Given the description of an element on the screen output the (x, y) to click on. 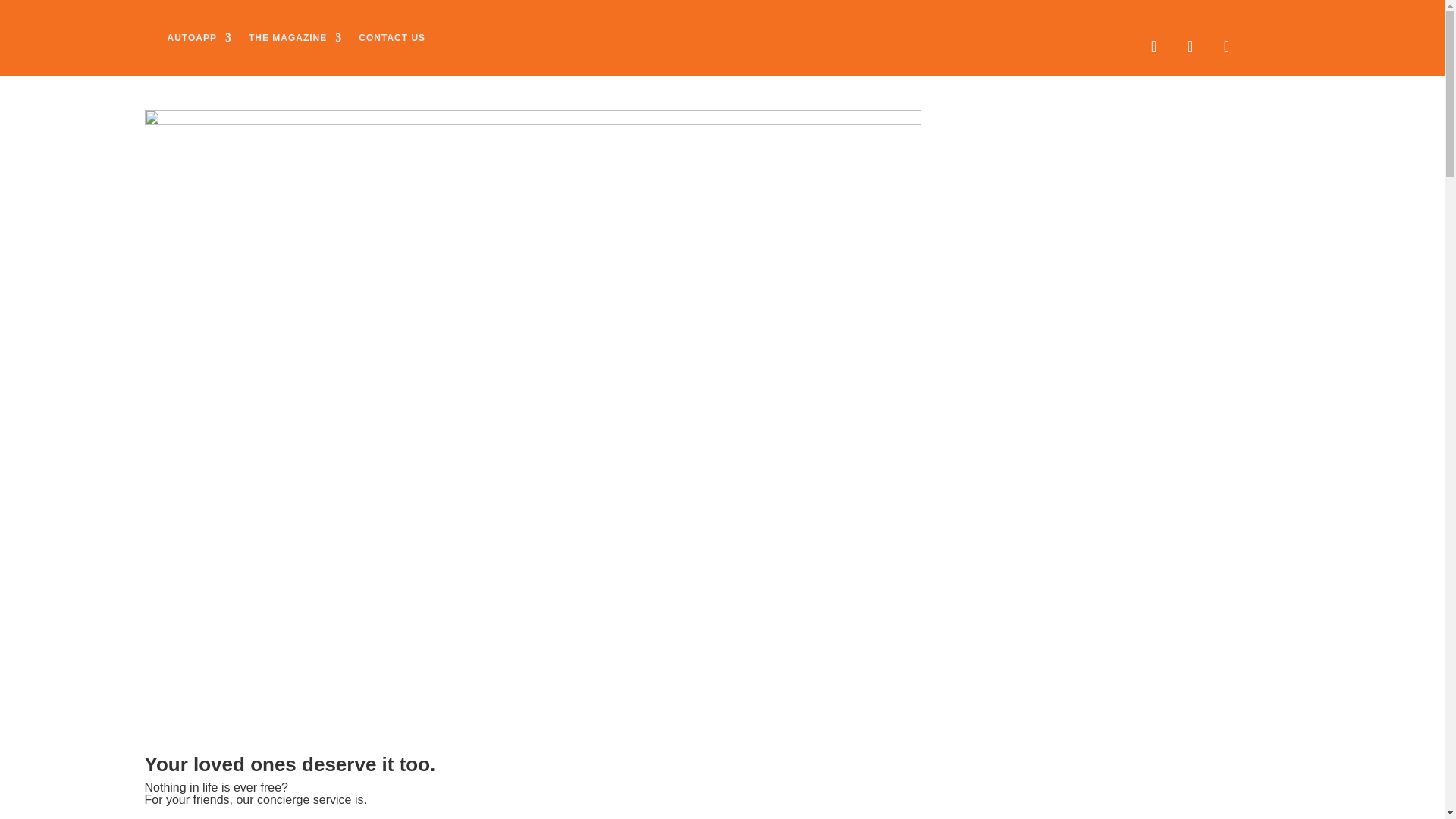
AUTOAPP (199, 37)
Follow on Youtube (1226, 46)
THE MAGAZINE (295, 37)
Follow on Instagram (1189, 46)
CONTACT US (391, 37)
Follow on Facebook (1153, 46)
